Given the description of an element on the screen output the (x, y) to click on. 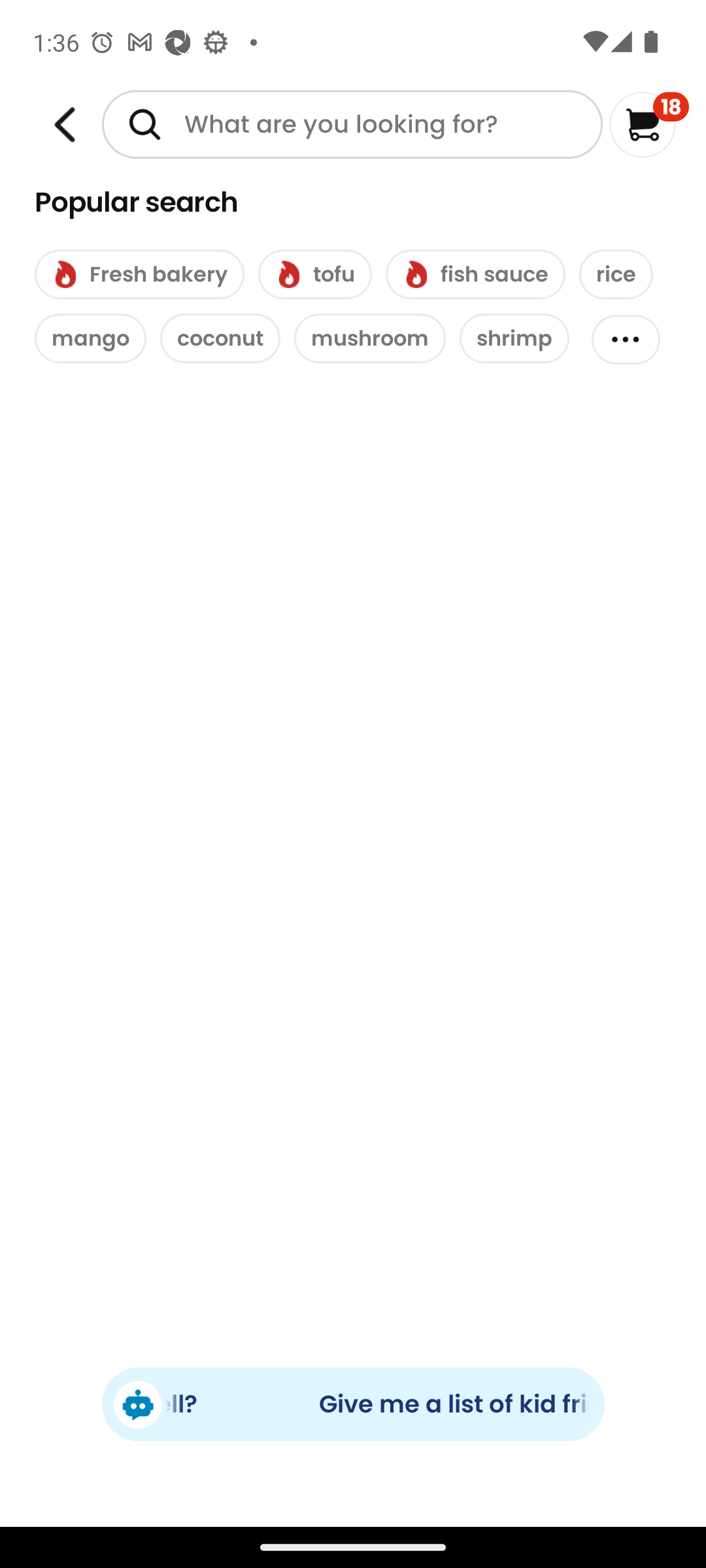
What are you looking for? (351, 124)
18 (649, 124)
Fresh bakery (139, 274)
tofu (315, 274)
fish sauce (475, 274)
rice (615, 274)
mango (90, 338)
coconut (220, 338)
mushroom (369, 338)
shrimp (514, 338)
